Given the description of an element on the screen output the (x, y) to click on. 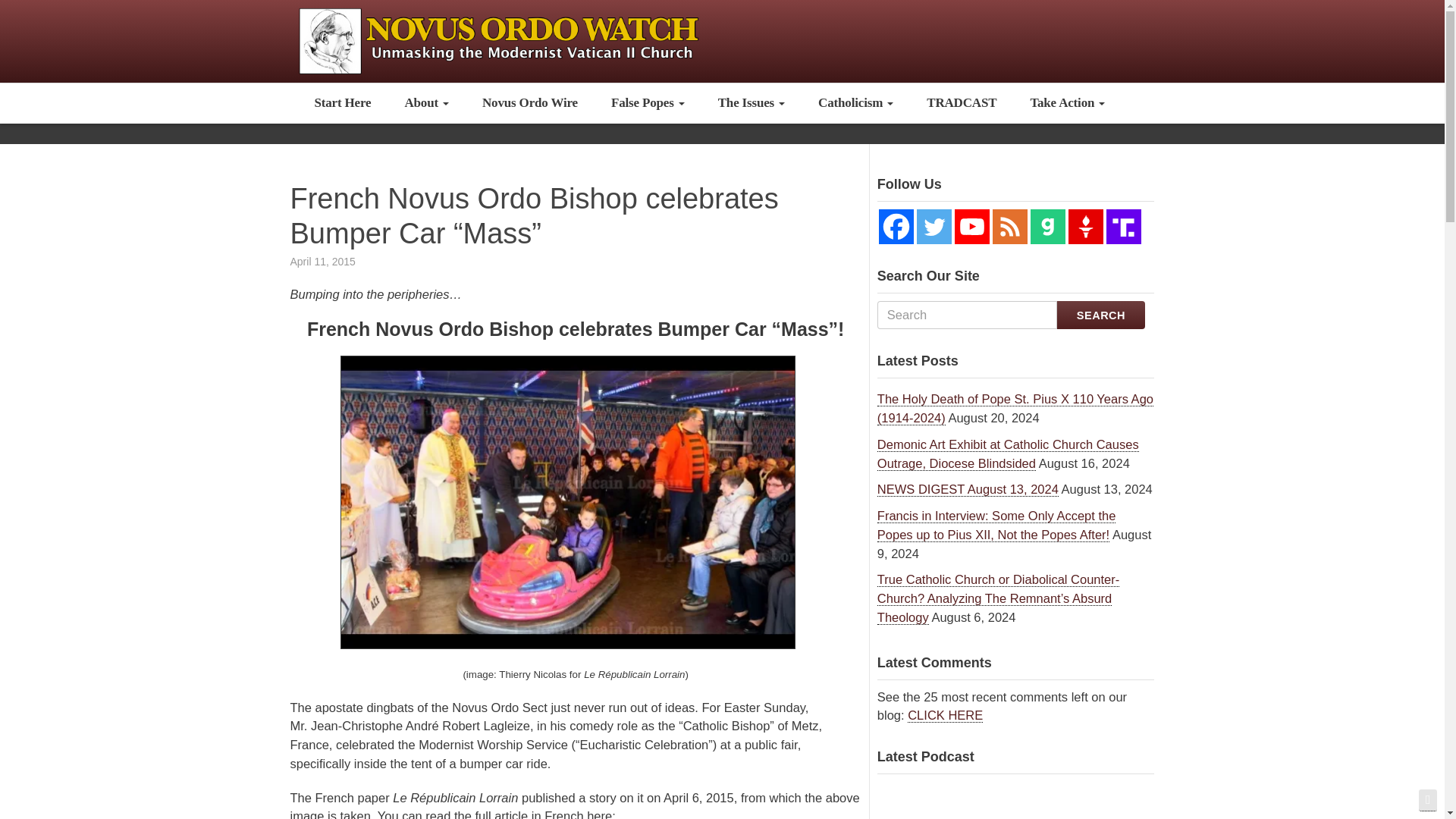
Novus Ordo Wire (529, 103)
The Issues (751, 103)
About (426, 103)
Start Here (342, 103)
Novus Ordo Watch (515, 38)
About (426, 103)
Start Here (342, 103)
False Popes (647, 103)
False Popes (647, 103)
Novus Ordo Wire (529, 103)
